Given the description of an element on the screen output the (x, y) to click on. 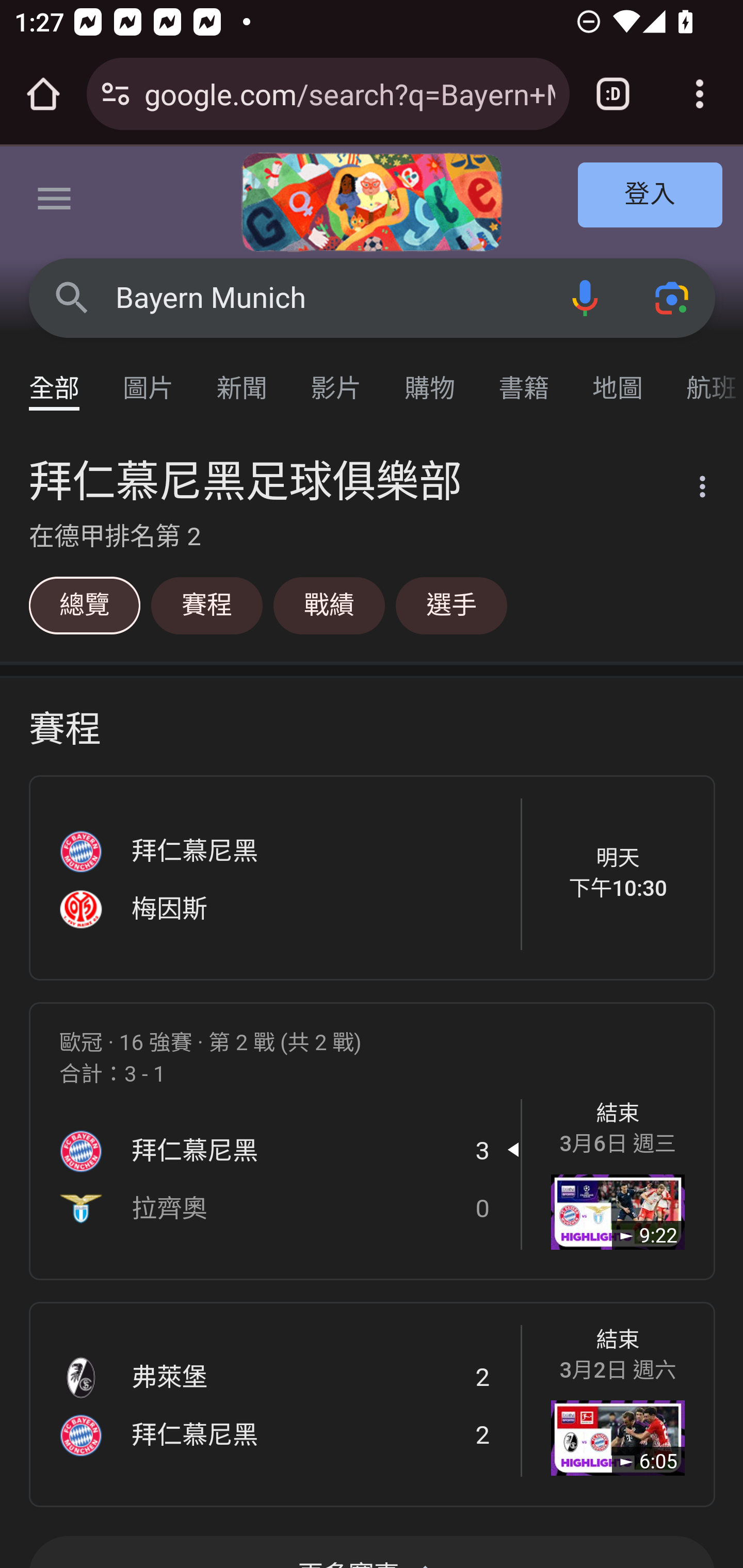
Open the home page (43, 93)
Connection is secure (115, 93)
Switch or close tabs (612, 93)
Customize and control Google Chrome (699, 93)
2024 年國際婦女節 (371, 202)
主選單 (54, 202)
登入 (650, 195)
Google 搜尋 (71, 296)
使用相機或相片搜尋 (672, 296)
Bayern Munich (328, 297)
圖片 (148, 378)
新聞 (242, 378)
影片 (336, 378)
購物 (430, 378)
書籍 (524, 378)
地圖 (618, 378)
航班 (703, 378)
更多選項 (690, 489)
總覽 (83, 605)
賽程 (206, 605)
戰績 (329, 605)
選手 (451, 605)
